Given the description of an element on the screen output the (x, y) to click on. 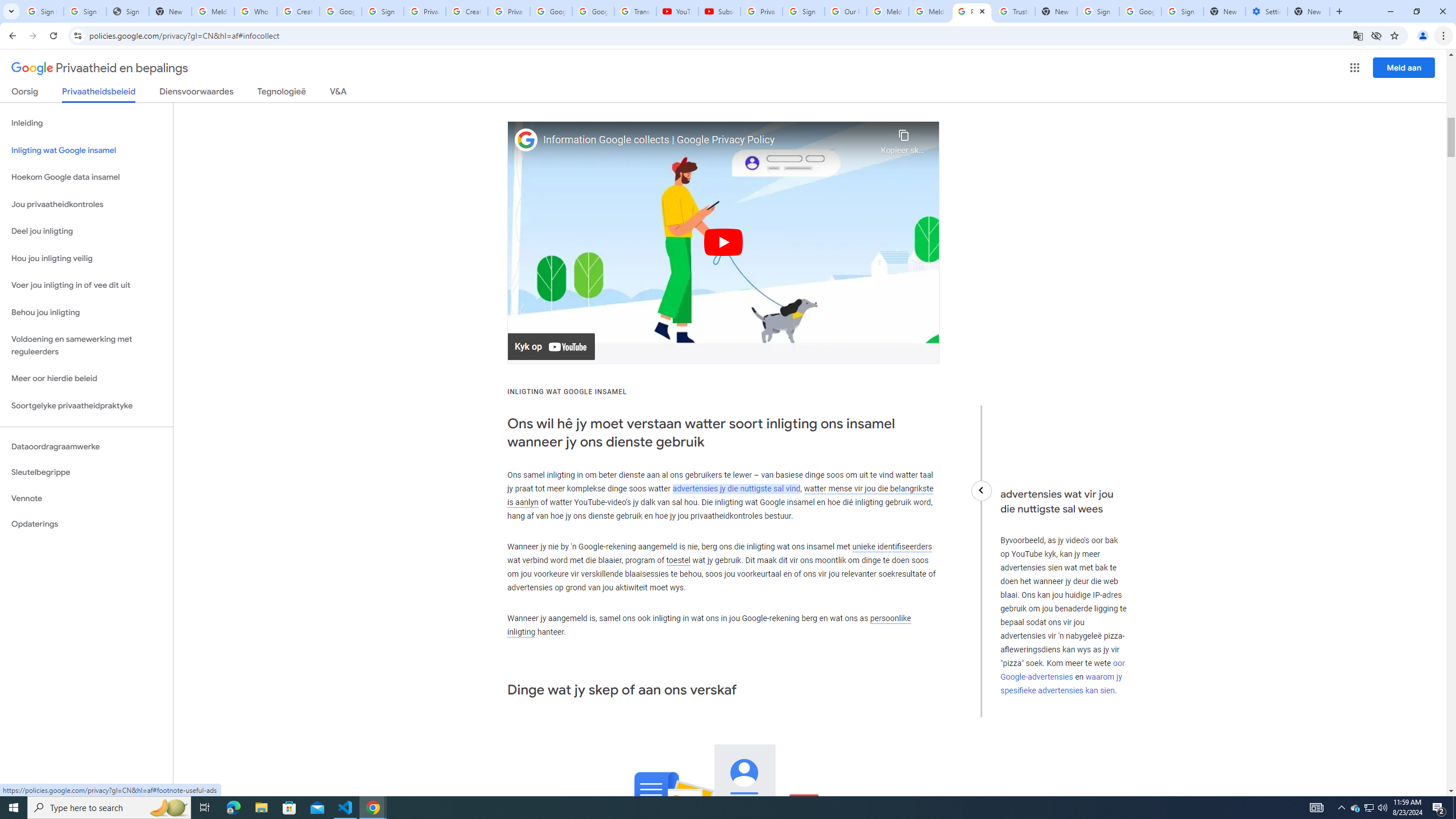
Hoekom Google data insamel (86, 176)
Inleiding (86, 122)
New Tab (1308, 11)
Create your Google Account (467, 11)
Subscriptions - YouTube (719, 11)
V&A (337, 93)
Soortgelyke privaatheidpraktyke (86, 405)
Behou jou inligting (86, 312)
Who is my administrator? - Google Account Help (255, 11)
unieke identifiseerders (891, 546)
Hou jou inligting veilig (86, 258)
Speel (723, 242)
